Given the description of an element on the screen output the (x, y) to click on. 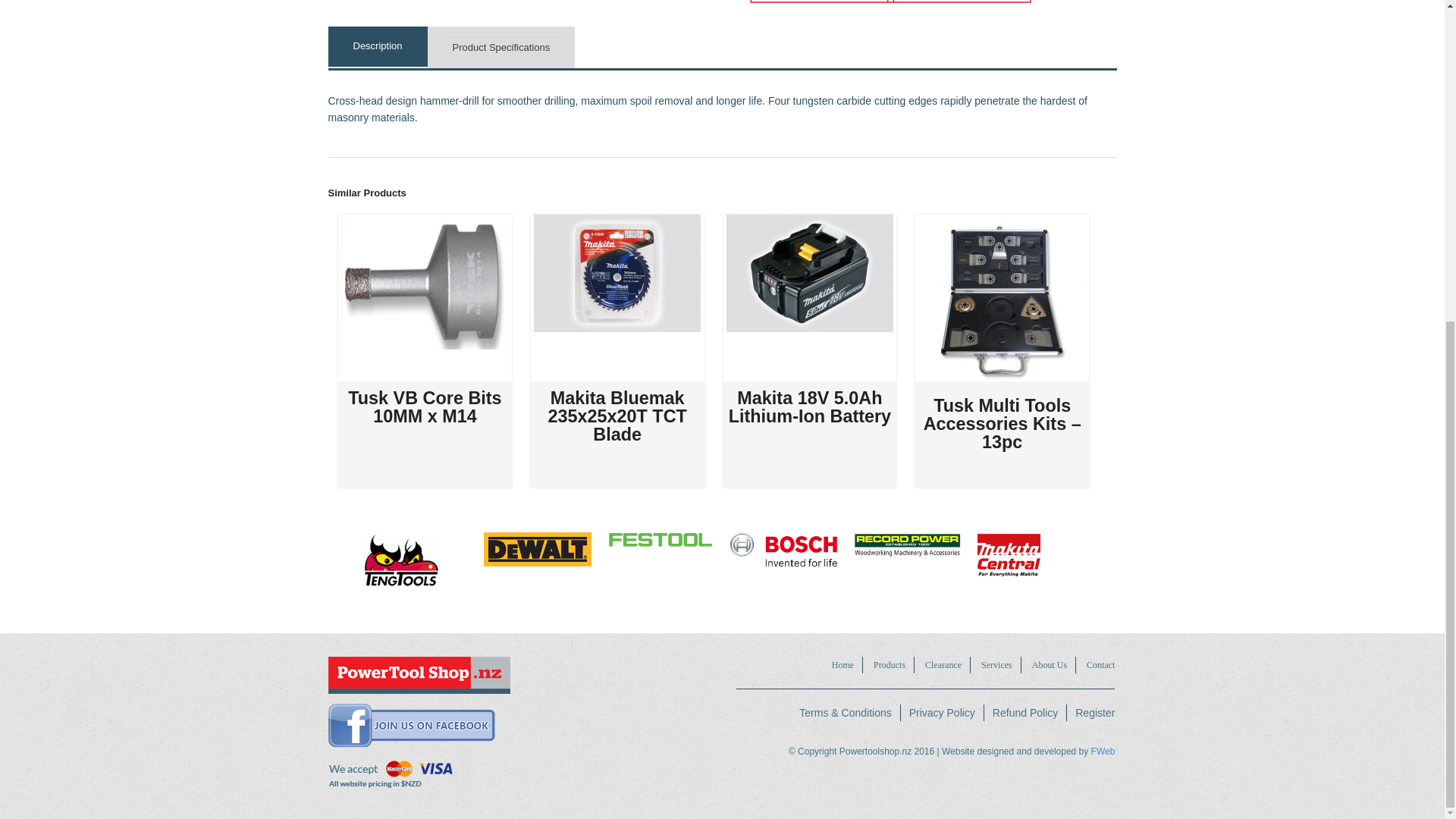
Description (377, 46)
Power Tool Shop (418, 674)
125m (889, 3)
Product Specifications (501, 47)
